Given the description of an element on the screen output the (x, y) to click on. 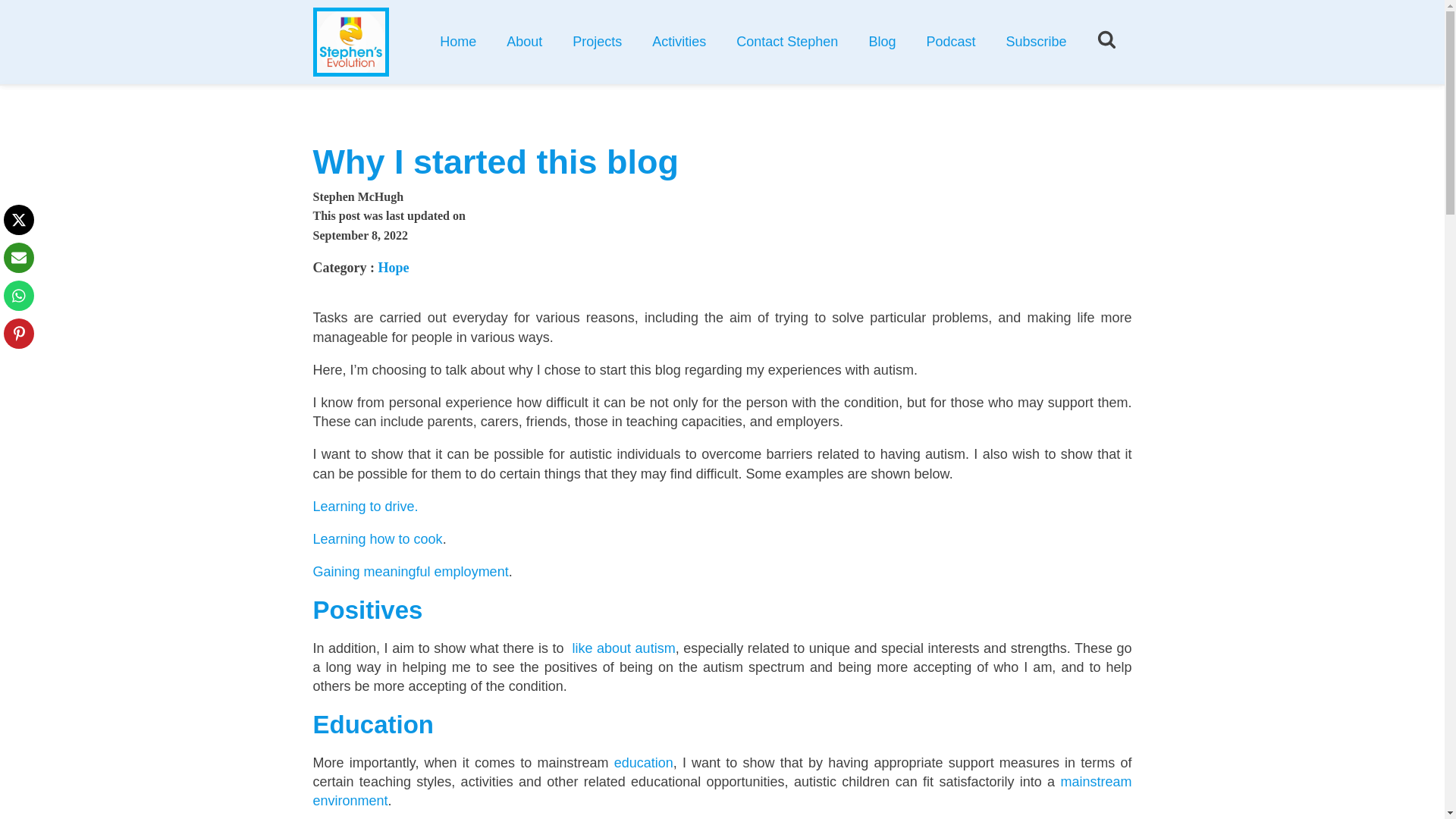
About (524, 41)
Search (511, 84)
Podcast (950, 41)
Blog (882, 41)
Learning to drive. (365, 506)
Gaining meaningful employment (410, 571)
Learning how to cook (377, 539)
Hope (393, 267)
education (643, 762)
Search (511, 84)
